Given the description of an element on the screen output the (x, y) to click on. 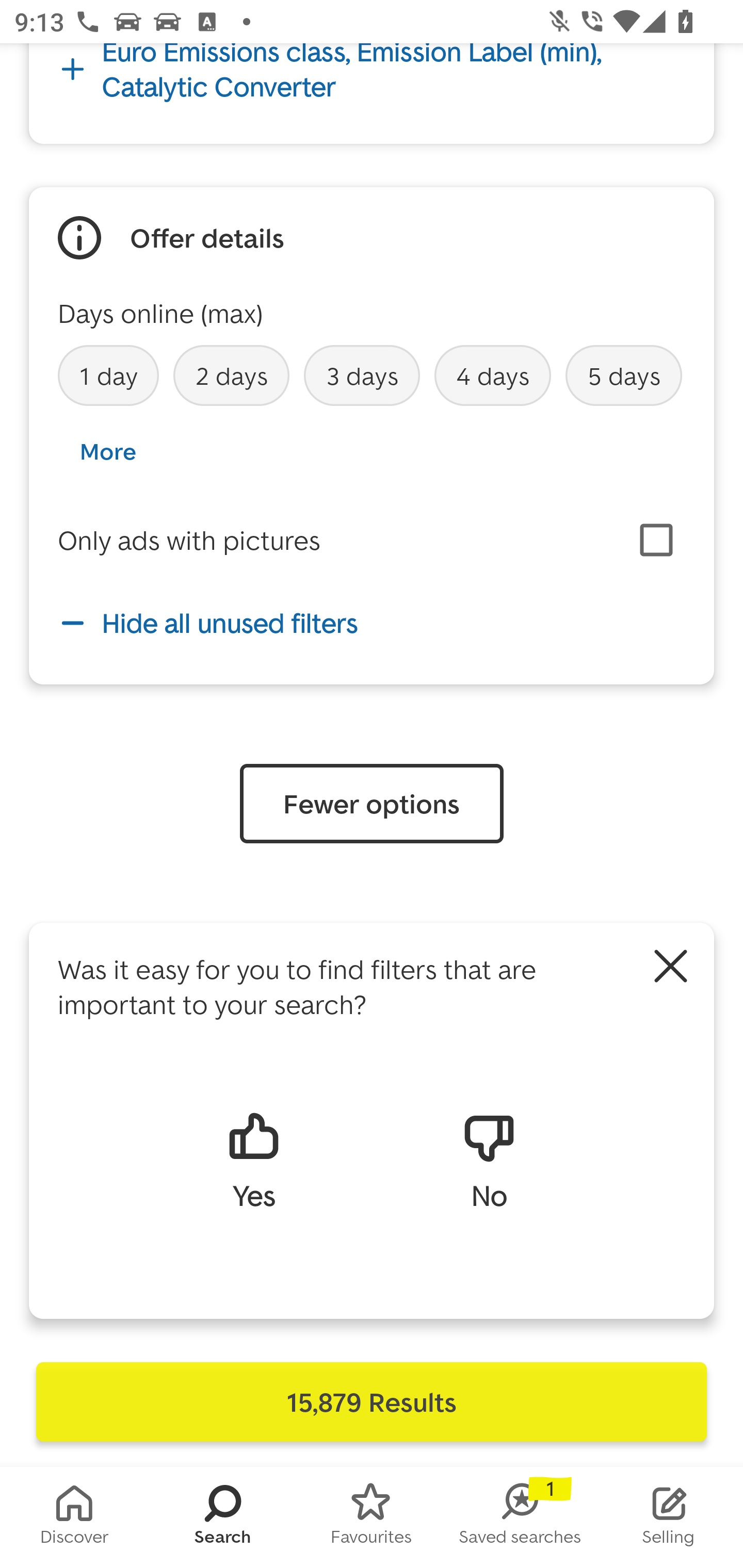
Offer details (207, 237)
Days online (max) (160, 312)
1 day (108, 375)
2 days (231, 375)
3 days (361, 375)
4 days (492, 375)
5 days (623, 375)
More (107, 451)
Only ads with pictures (188, 540)
Hide all unused filters (371, 623)
Fewer options (371, 803)
Yes (253, 1159)
No (489, 1159)
15,879 Results (371, 1401)
HOMESCREEN Discover (74, 1517)
SEARCH Search (222, 1517)
FAVORITES Favourites (371, 1517)
SAVED_SEARCHES Saved searches 1 (519, 1517)
STOCK_LIST Selling (668, 1517)
